Given the description of an element on the screen output the (x, y) to click on. 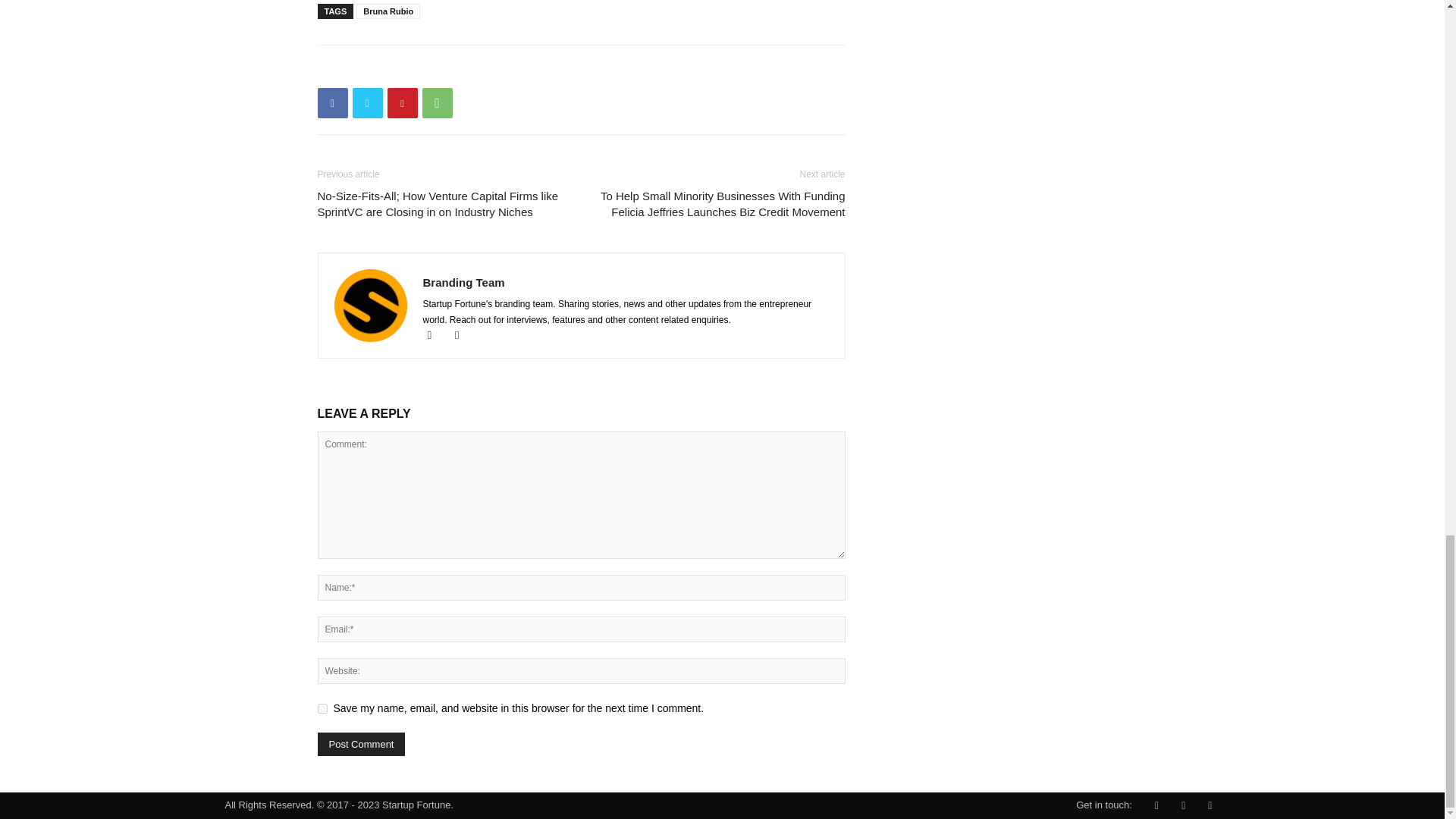
Post Comment (360, 743)
yes (321, 708)
